Given the description of an element on the screen output the (x, y) to click on. 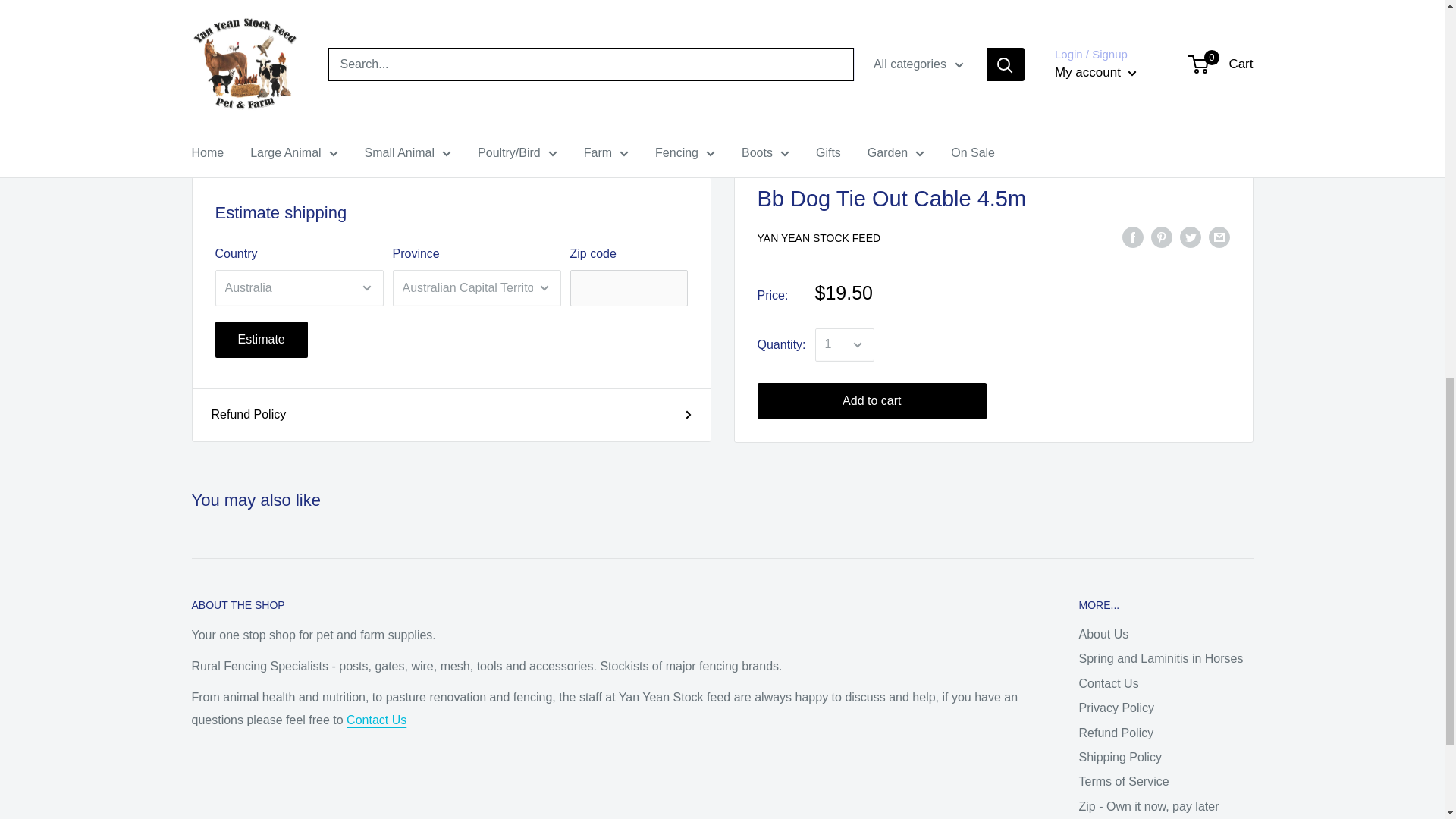
Contact Us (376, 719)
